Given the description of an element on the screen output the (x, y) to click on. 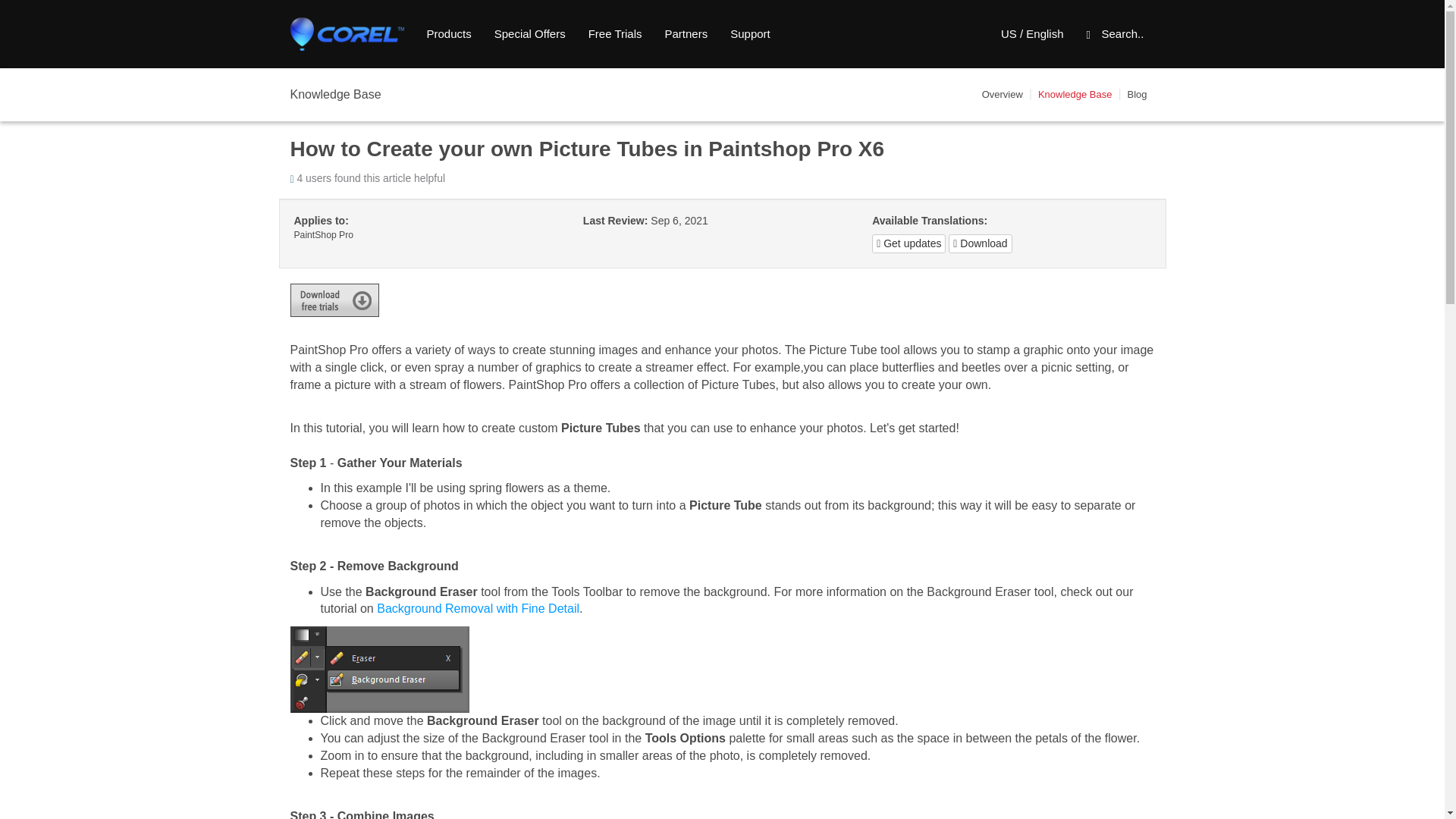
Free Trials (614, 34)
Special Offers (529, 34)
Support (750, 34)
Products (448, 34)
Get updates (908, 243)
Partners (686, 34)
Subscribe to article updates (908, 243)
Knowledge Base (1074, 94)
Save as PDF (980, 243)
Background Removal with Fine Detail (478, 608)
Download (980, 243)
Overview (1002, 94)
